Given the description of an element on the screen output the (x, y) to click on. 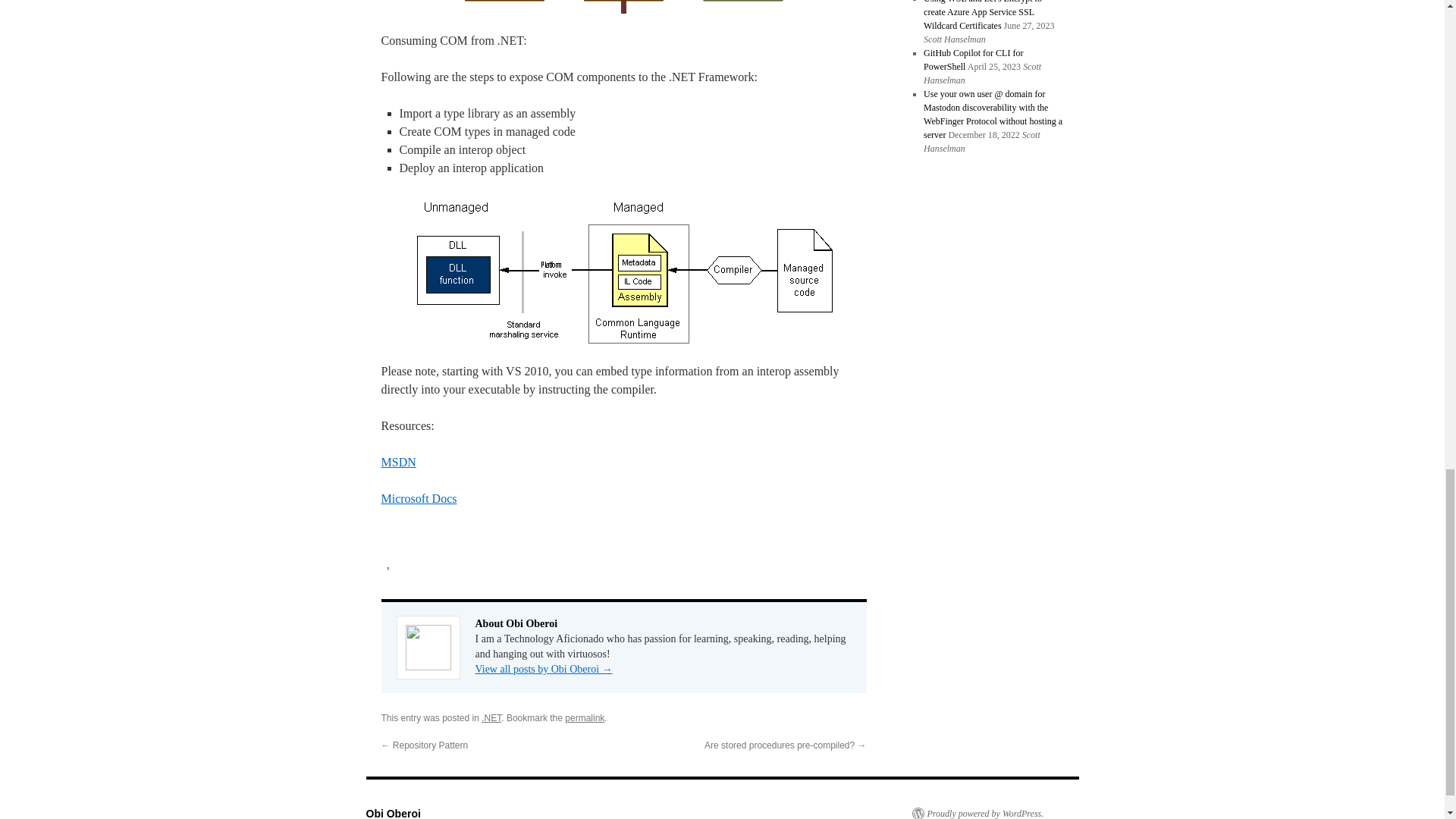
permalink (584, 717)
.NET (490, 717)
MSDN (397, 461)
Permalink to What is Managed and Unmanaged Code? (584, 717)
Microsoft Docs (418, 498)
